Given the description of an element on the screen output the (x, y) to click on. 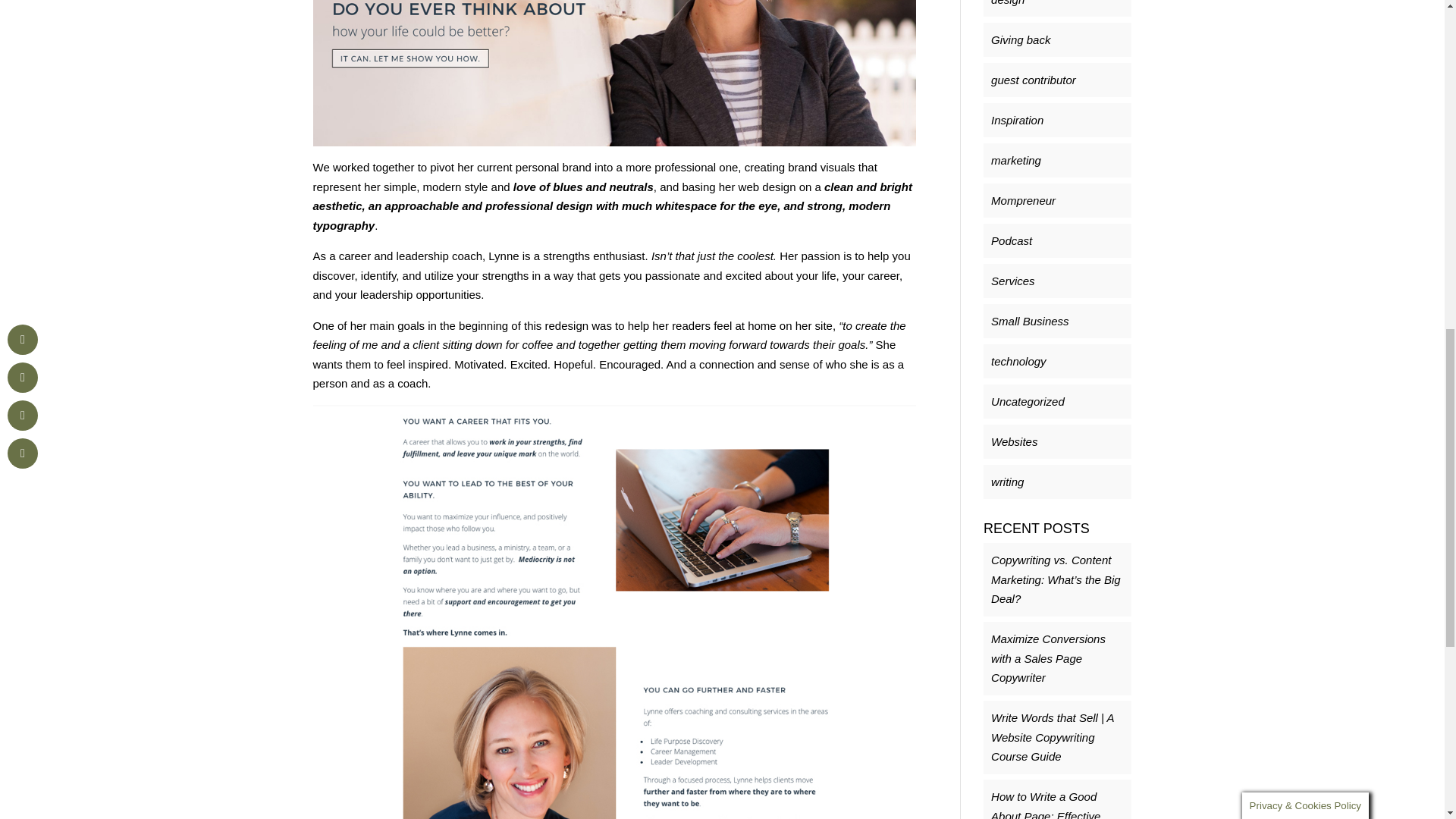
Services (1013, 280)
marketing (1016, 160)
design (1008, 2)
Mompreneur (1023, 200)
technology (1018, 360)
Giving back (1020, 39)
Small Business (1029, 320)
Inspiration (1017, 119)
Podcast (1011, 240)
guest contributor (1033, 79)
